Given the description of an element on the screen output the (x, y) to click on. 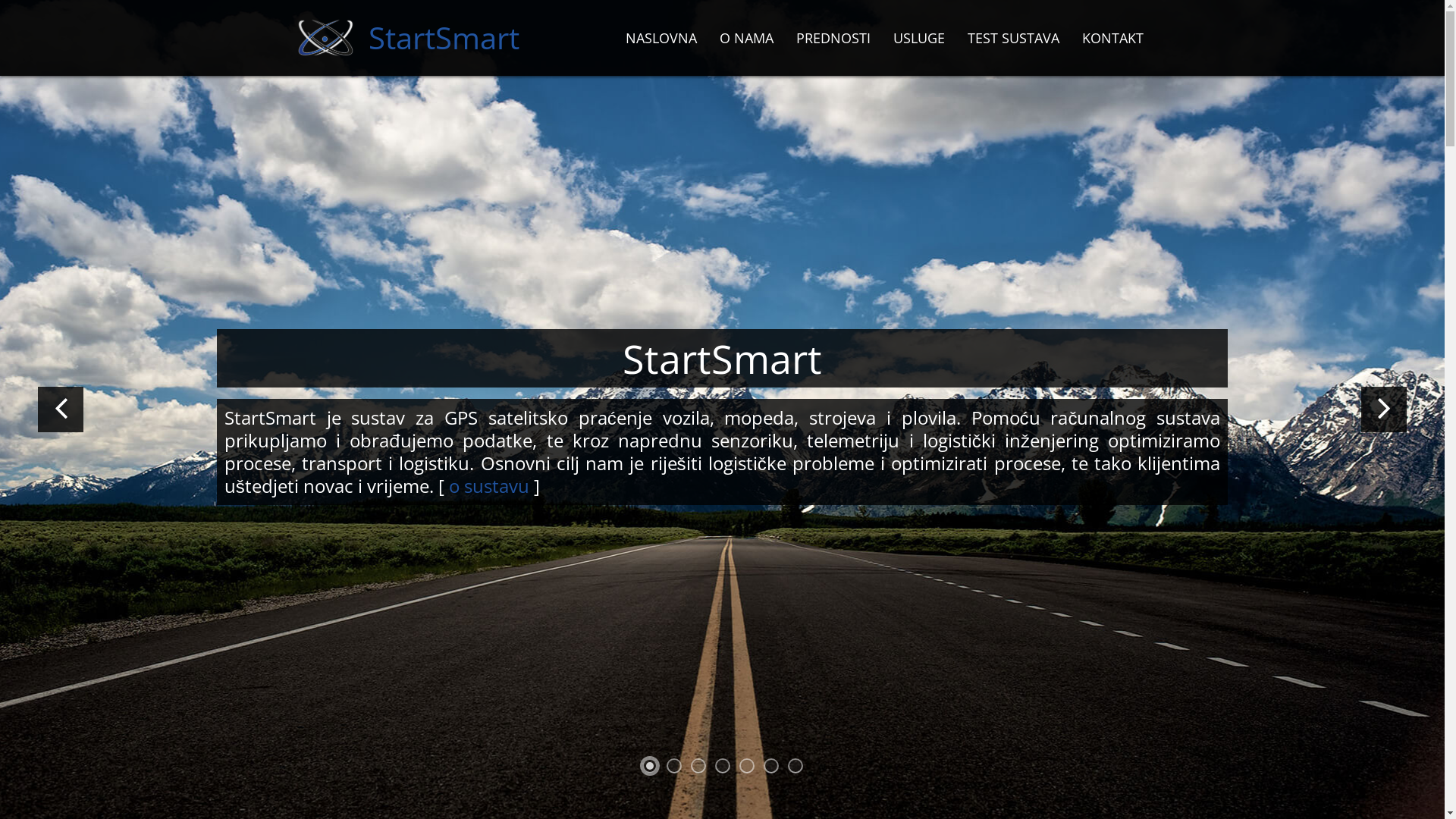
KONTAKT Element type: text (1112, 37)
StartSmart Element type: text (404, 37)
TEST SUSTAVA Element type: text (1012, 37)
PREDNOSTI Element type: text (832, 37)
o sustavu Element type: text (488, 485)
USLUGE Element type: text (918, 37)
O NAMA Element type: text (746, 37)
NASLOVNA Element type: text (661, 37)
